Given the description of an element on the screen output the (x, y) to click on. 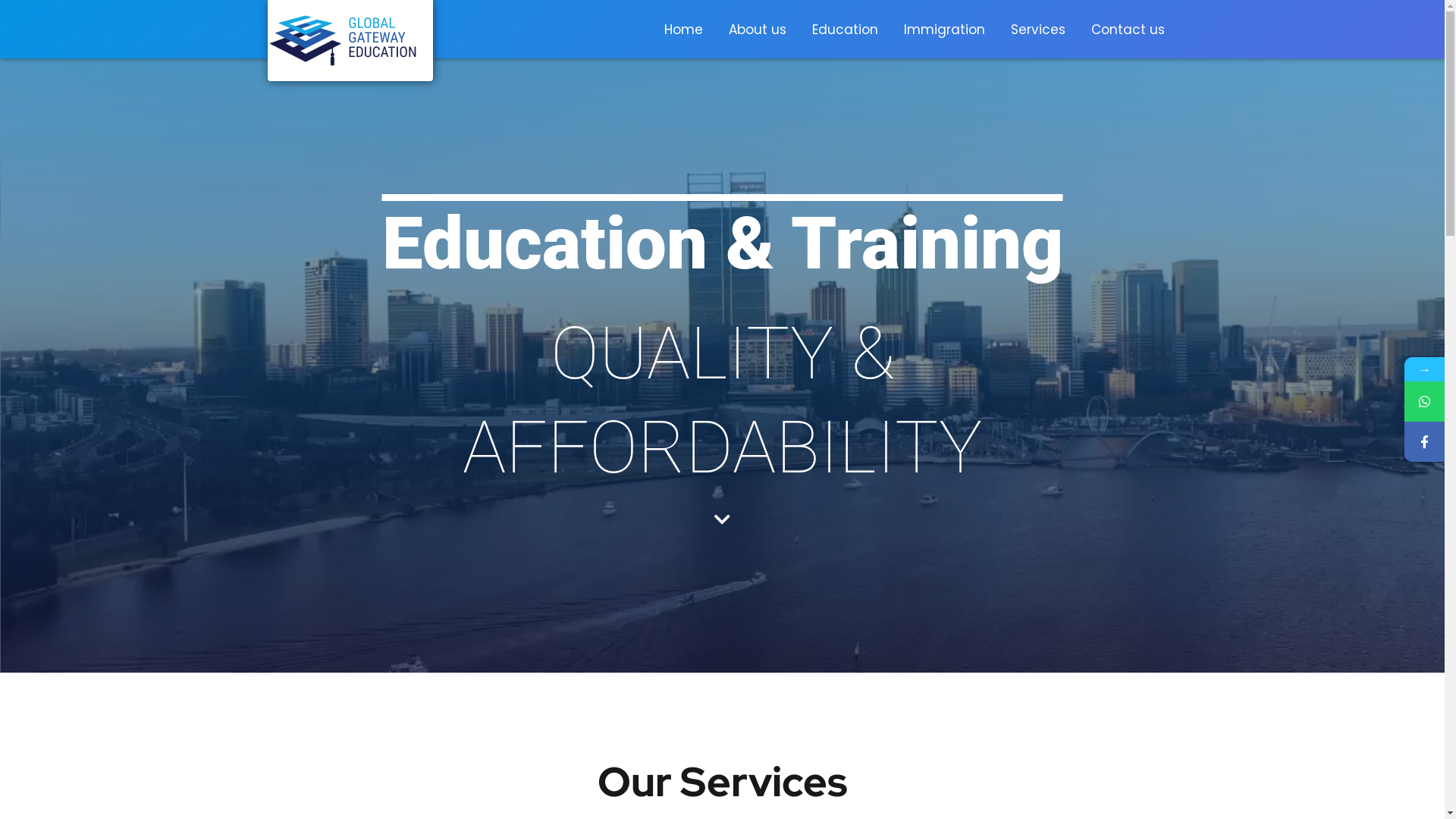
Immigration Element type: text (943, 29)
Education Element type: text (845, 29)
Contact us Element type: text (1127, 29)
WhatsApp Element type: hover (1424, 401)
Facebook Element type: hover (1424, 441)
Services Element type: text (1037, 29)
Home Element type: text (682, 29)
About us Element type: text (757, 29)
